Given the description of an element on the screen output the (x, y) to click on. 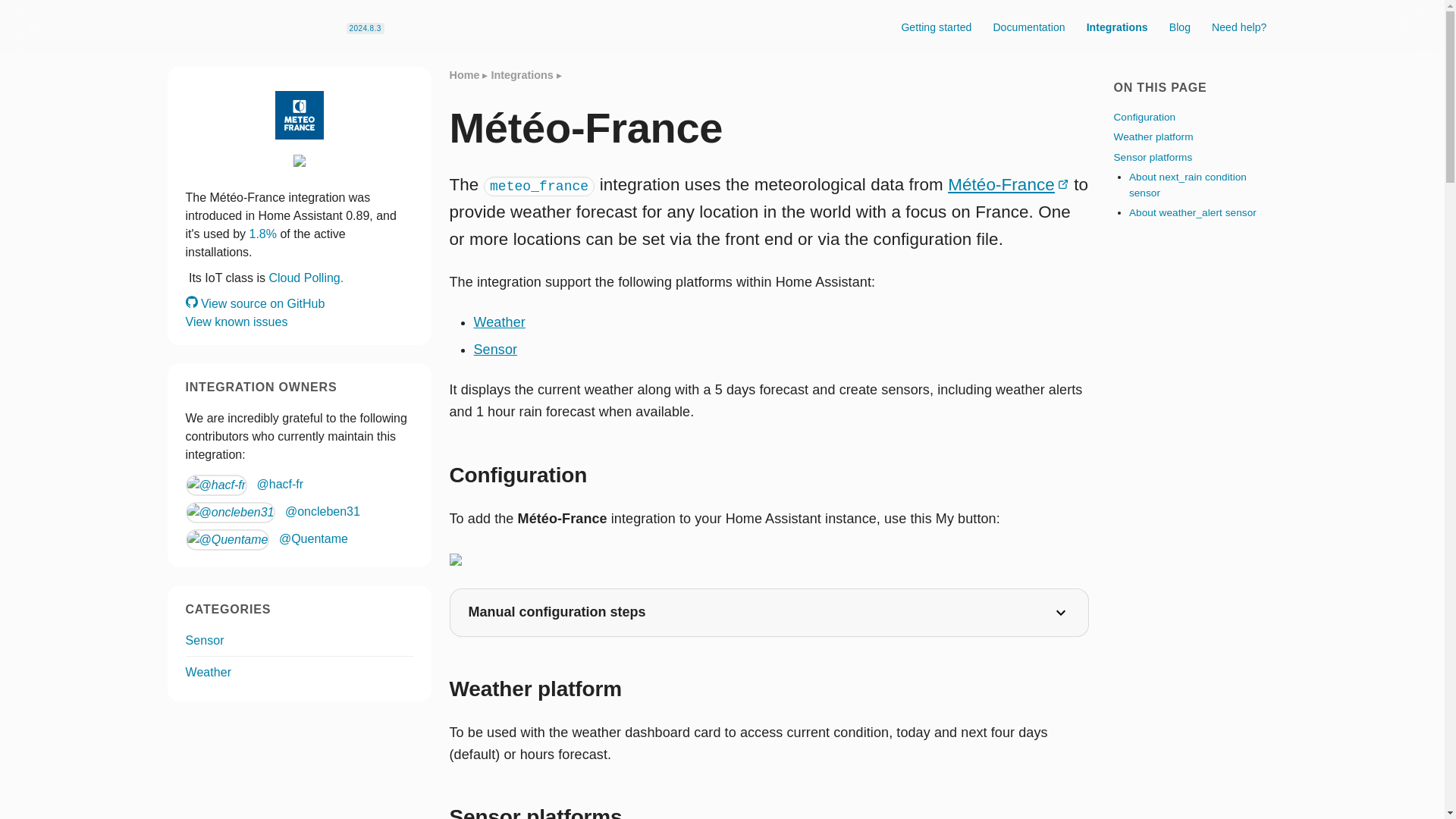
Integrations (521, 74)
Configuration (1143, 116)
Getting started (936, 20)
Integrations (1117, 20)
Weather (498, 322)
Sensor platforms (1152, 156)
2024.8.3 (365, 28)
Documentation (1028, 20)
Latest version 2024.8.3 released August 25, 2024 (365, 28)
Need help? (1238, 20)
